Given the description of an element on the screen output the (x, y) to click on. 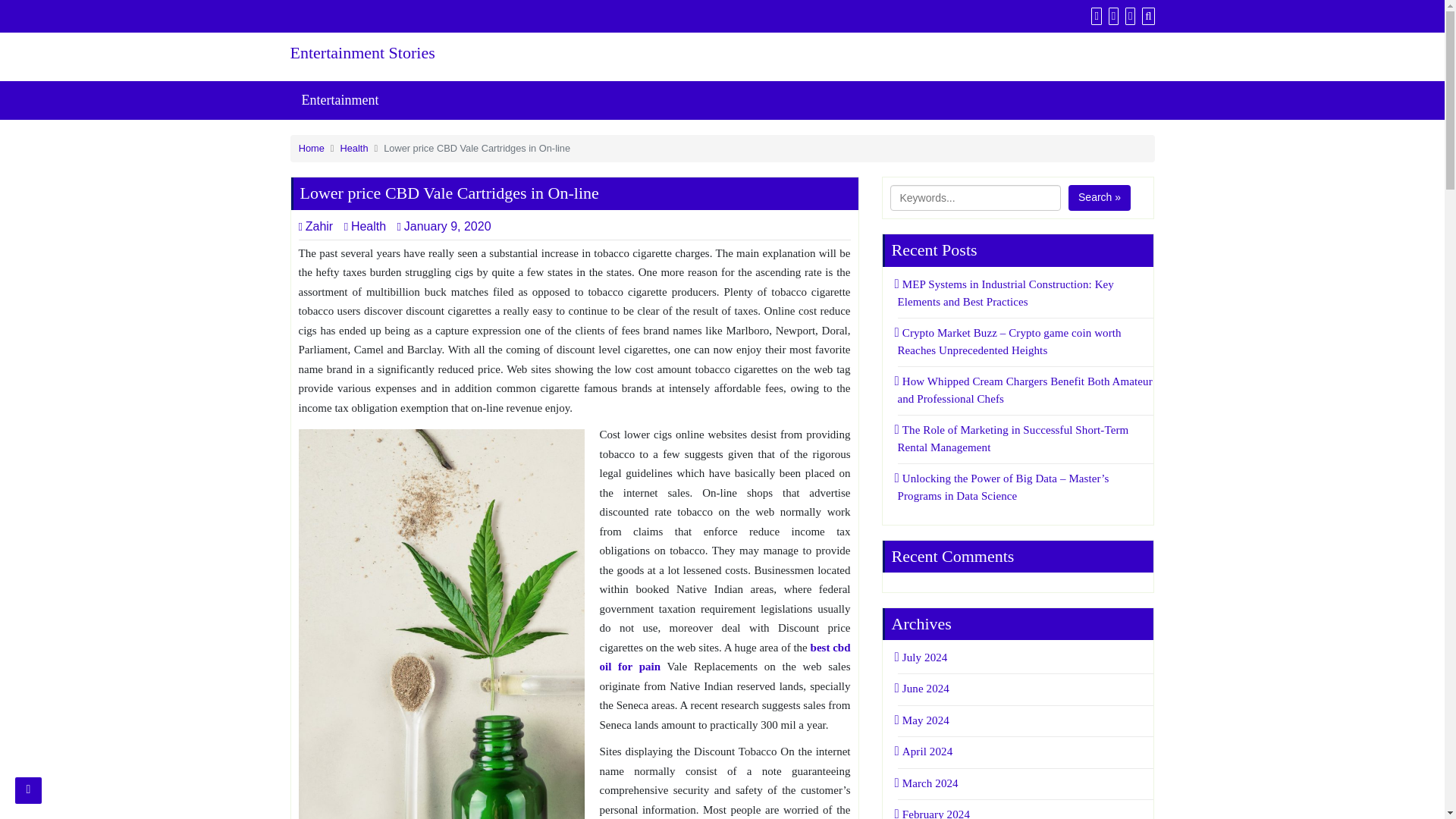
Entertainment Stories (425, 53)
best cbd oil for pain (724, 657)
July 2024 (922, 657)
June 2024 (923, 688)
Health (364, 226)
Home (311, 147)
Health (354, 147)
January 9, 2020 (448, 226)
Entertainment (339, 99)
May 2024 (923, 720)
March 2024 (928, 783)
February 2024 (934, 813)
April 2024 (925, 751)
